Given the description of an element on the screen output the (x, y) to click on. 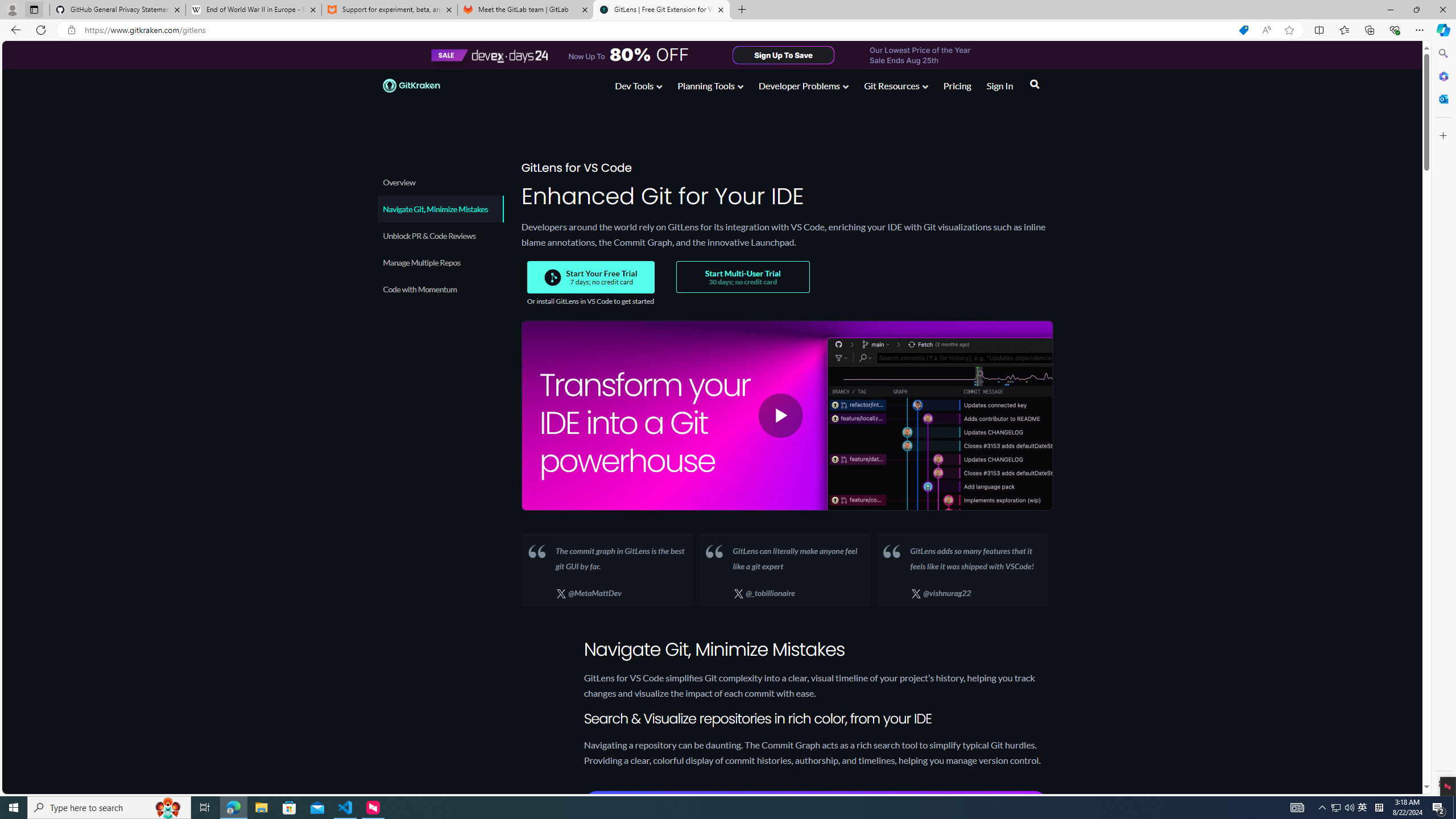
Sign In (999, 87)
End of World War II in Europe - Wikipedia (253, 9)
Manage Multiple Repos (439, 262)
Sign In (999, 85)
Navigate Git, Minimize Mistakes (439, 209)
